Given the description of an element on the screen output the (x, y) to click on. 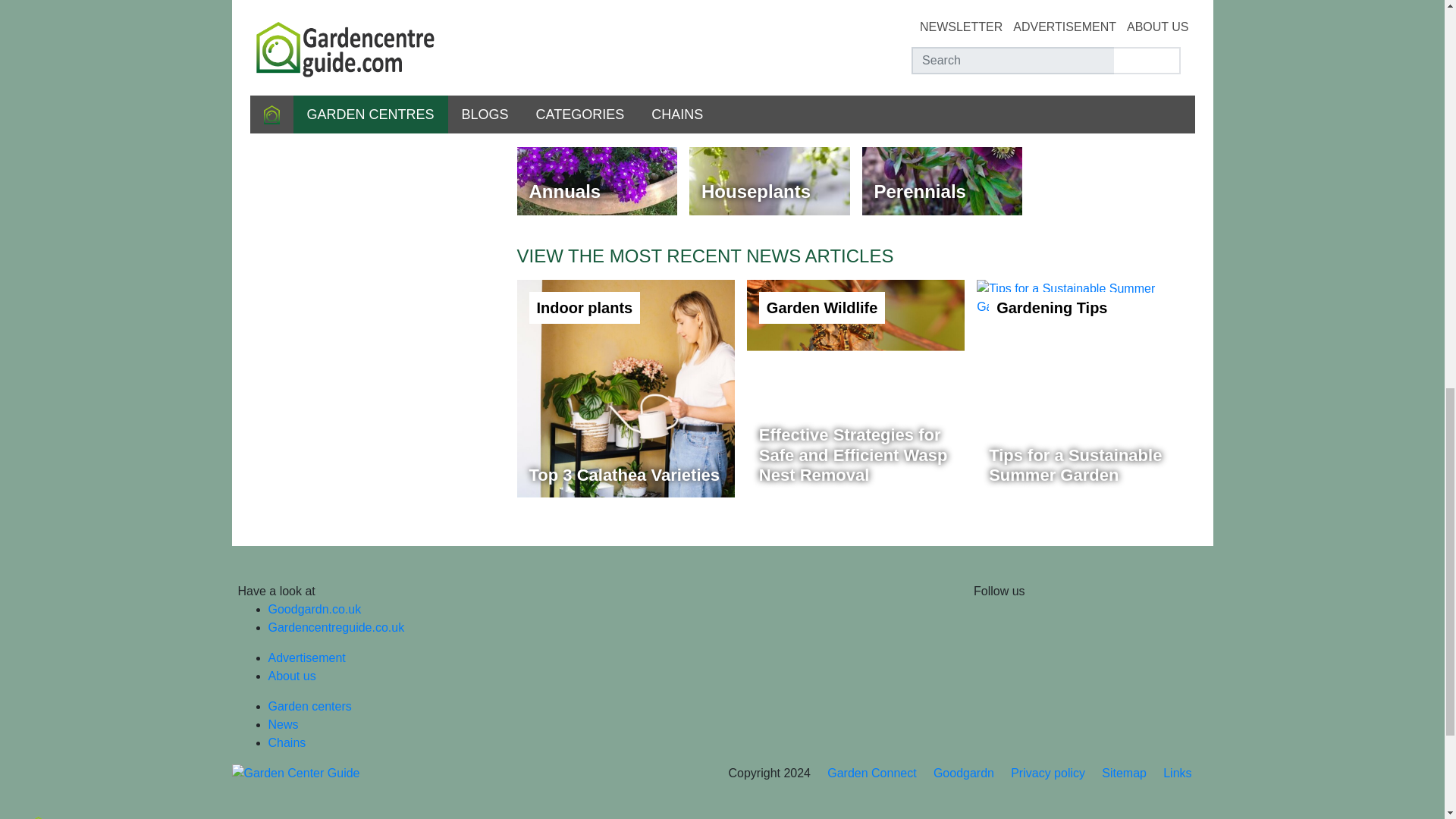
Houseplants (769, 135)
Gardencentreguide.co.uk (335, 626)
News (282, 724)
I want to sign-up (376, 6)
Perennials (625, 388)
Goodgardn.co.uk (1084, 388)
Garden centers (941, 135)
